Given the description of an element on the screen output the (x, y) to click on. 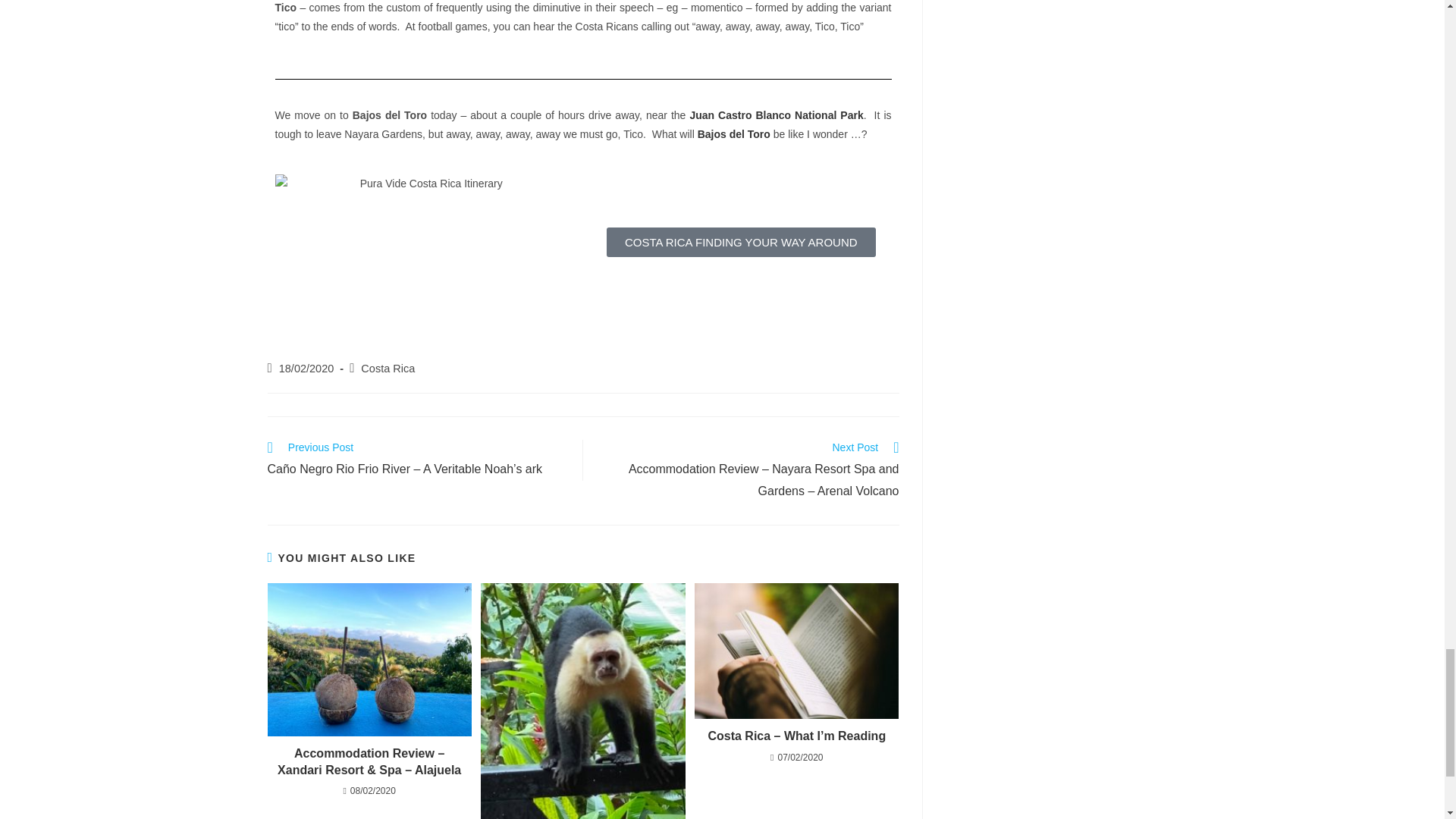
Costa Rica (387, 368)
Juan Castro Blanco National Park (775, 114)
COSTA RICA FINDING YOUR WAY AROUND (741, 242)
Bajos del Toro (733, 133)
